Given the description of an element on the screen output the (x, y) to click on. 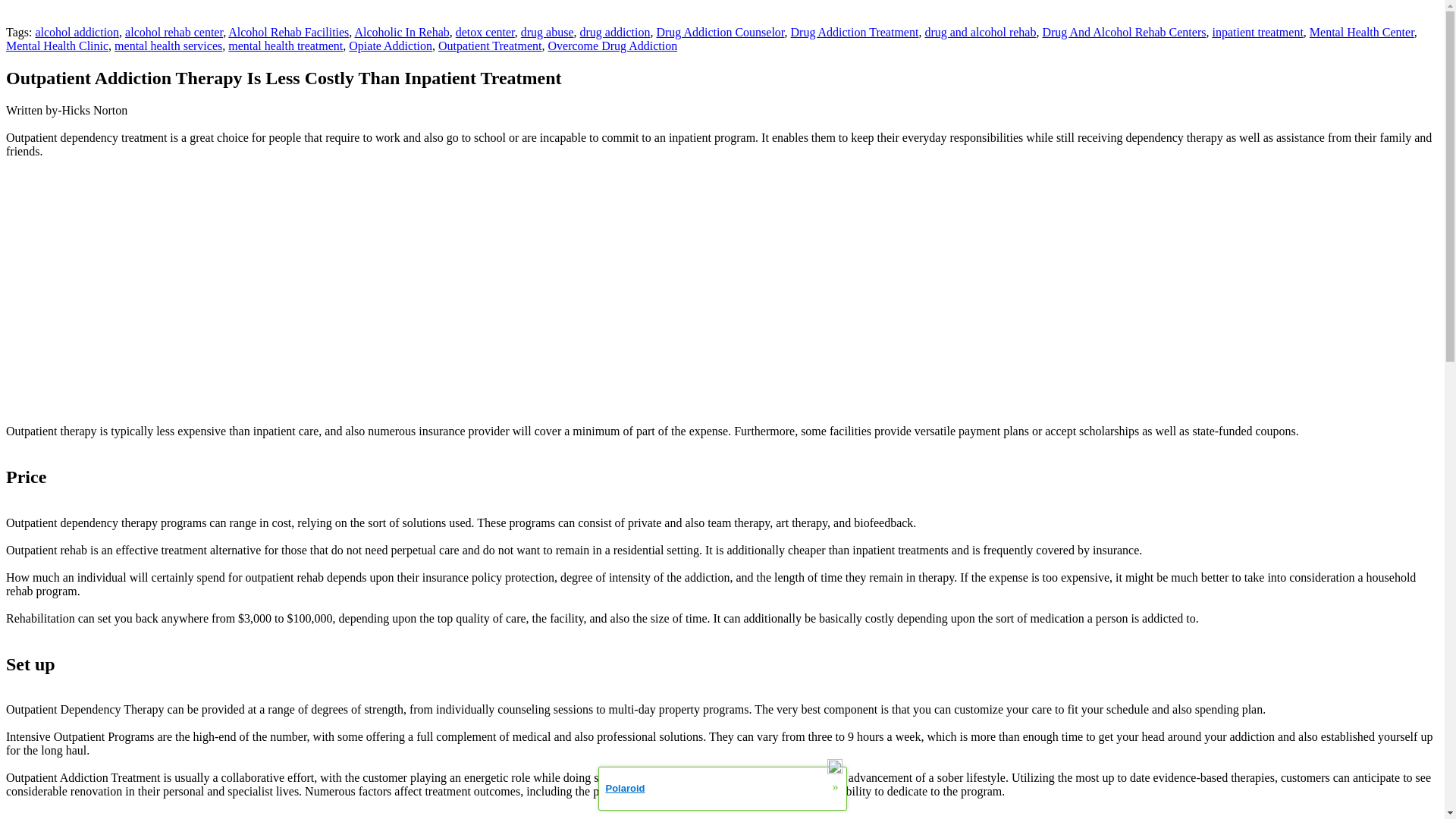
Drug Addiction Treatment (854, 31)
mental health treatment (285, 45)
drug abuse (547, 31)
Alcoholic In Rehab (400, 31)
Alcohol Rehab Facilities (288, 31)
Mental Health Center (1360, 31)
Overcome Drug Addiction (612, 45)
mental health services (168, 45)
Mental Health Clinic (56, 45)
alcohol rehab center (173, 31)
Drug And Alcohol Rehab Centers (1123, 31)
drug and alcohol rehab (979, 31)
drug addiction (614, 31)
Outpatient Treatment (489, 45)
YouTube video player (217, 291)
